Given the description of an element on the screen output the (x, y) to click on. 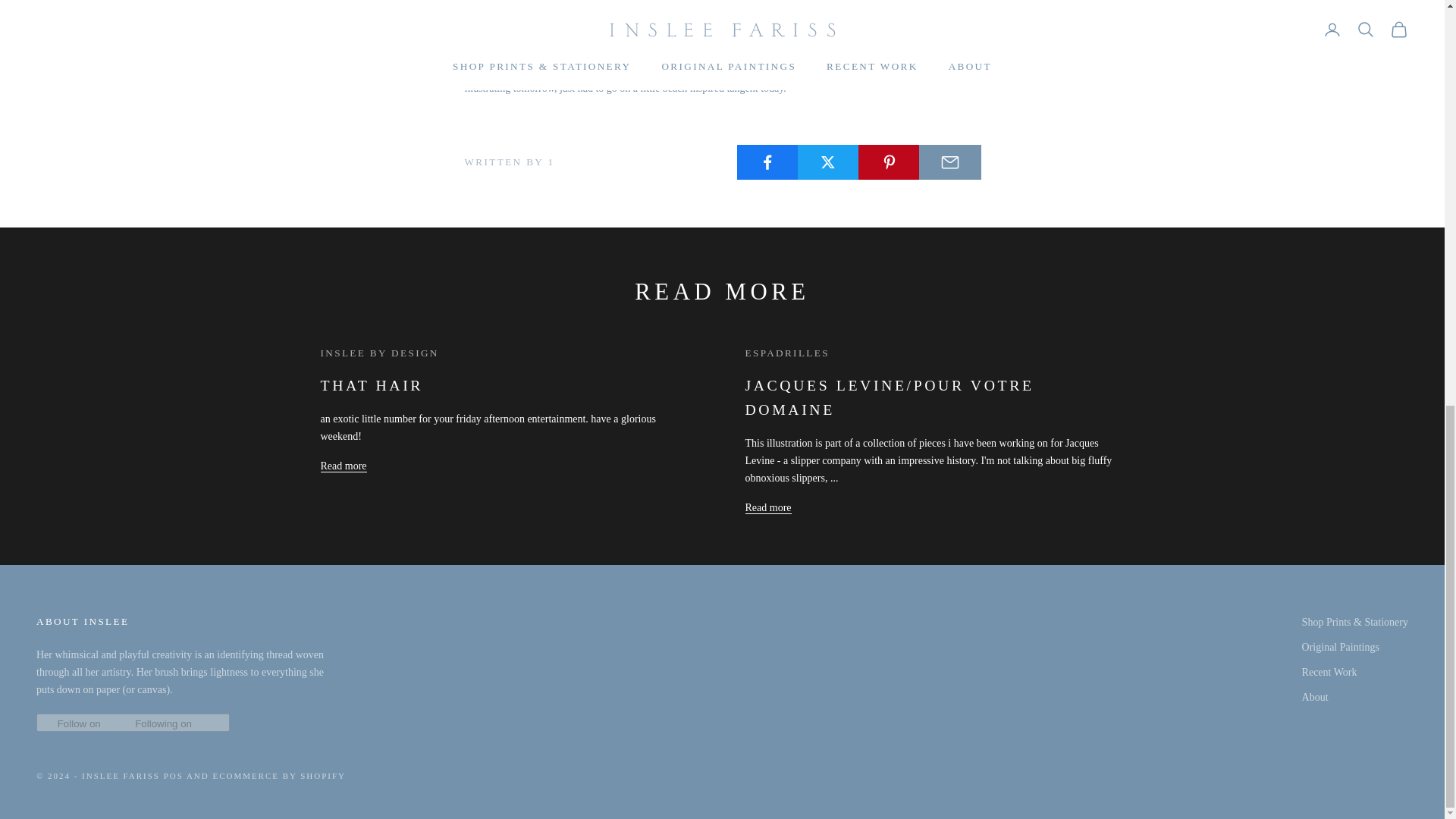
THAT HAIR (371, 384)
Original Paintings (1339, 646)
Recent Work (1328, 672)
Read more (767, 507)
About (1314, 696)
INSLEE BY DESIGN (379, 352)
Read more (343, 466)
ESPADRILLES (786, 352)
